Given the description of an element on the screen output the (x, y) to click on. 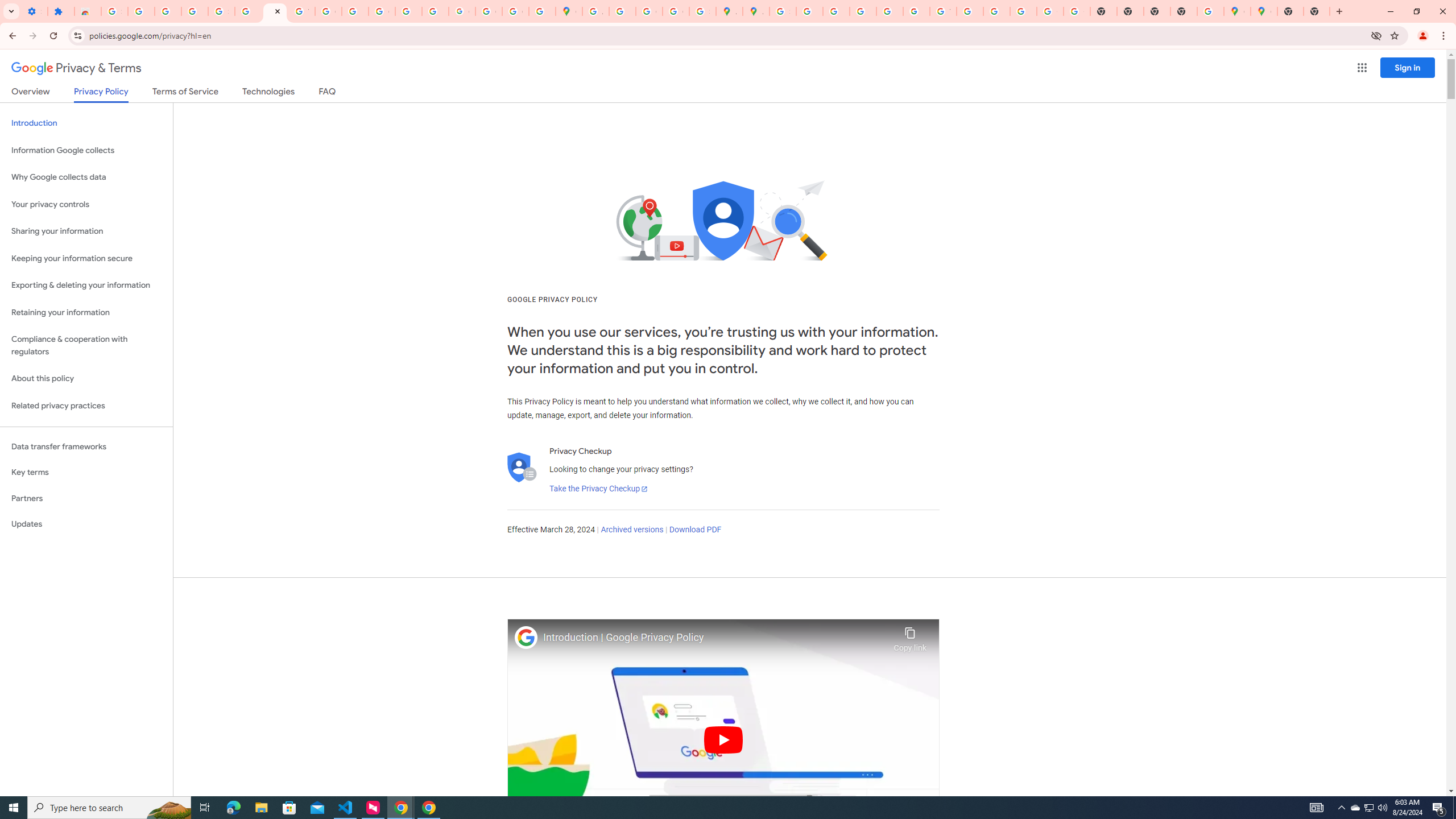
Introduction (86, 122)
Sign in - Google Accounts (114, 11)
New Tab (1290, 11)
Reviews: Helix Fruit Jump Arcade Game (87, 11)
Safety in Our Products - Google Safety Center (702, 11)
https://scholar.google.com/ (355, 11)
Your privacy controls (86, 204)
Photo image of Google (526, 636)
